Given the description of an element on the screen output the (x, y) to click on. 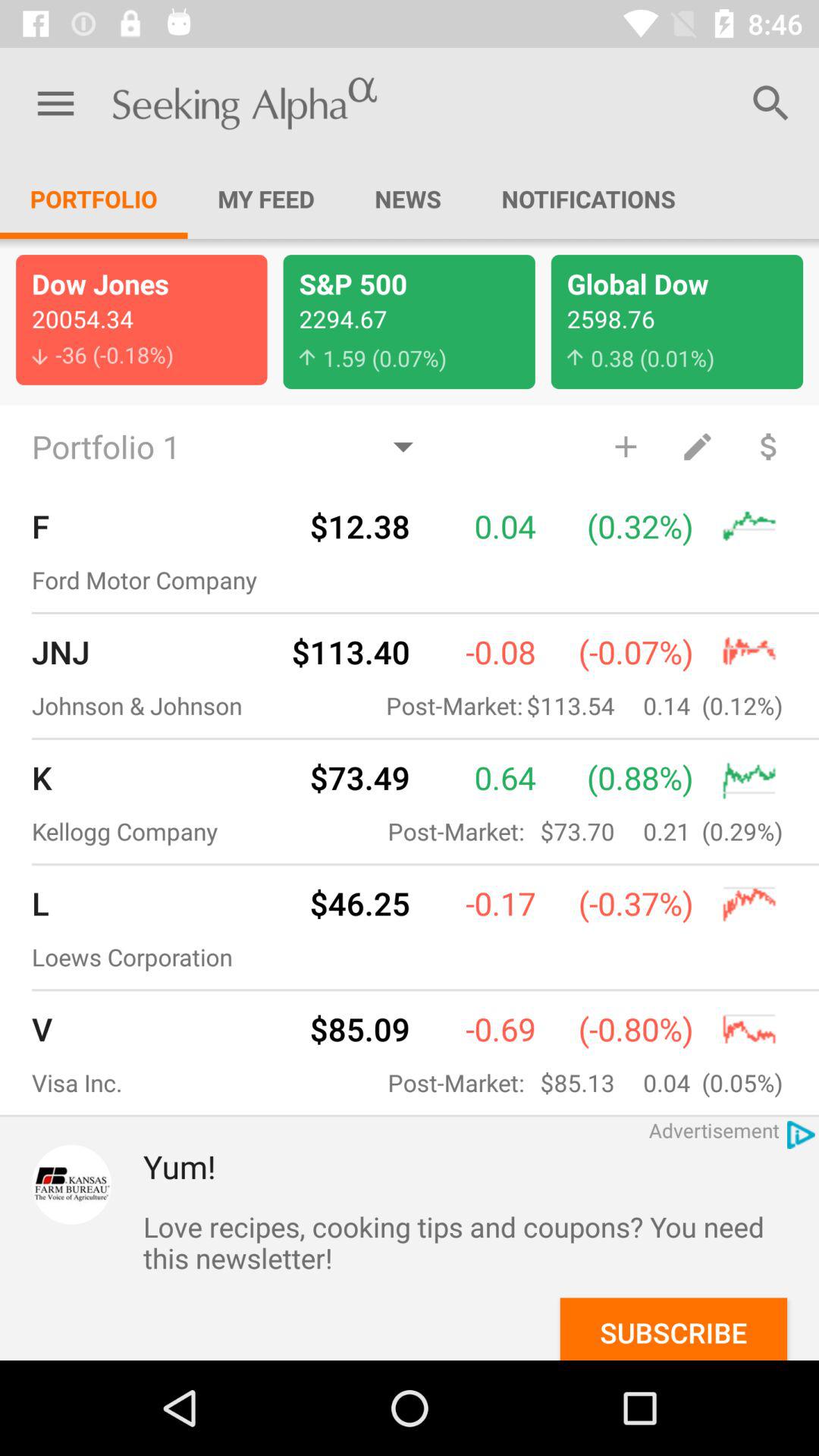
launch icon above portfolio (55, 103)
